Given the description of an element on the screen output the (x, y) to click on. 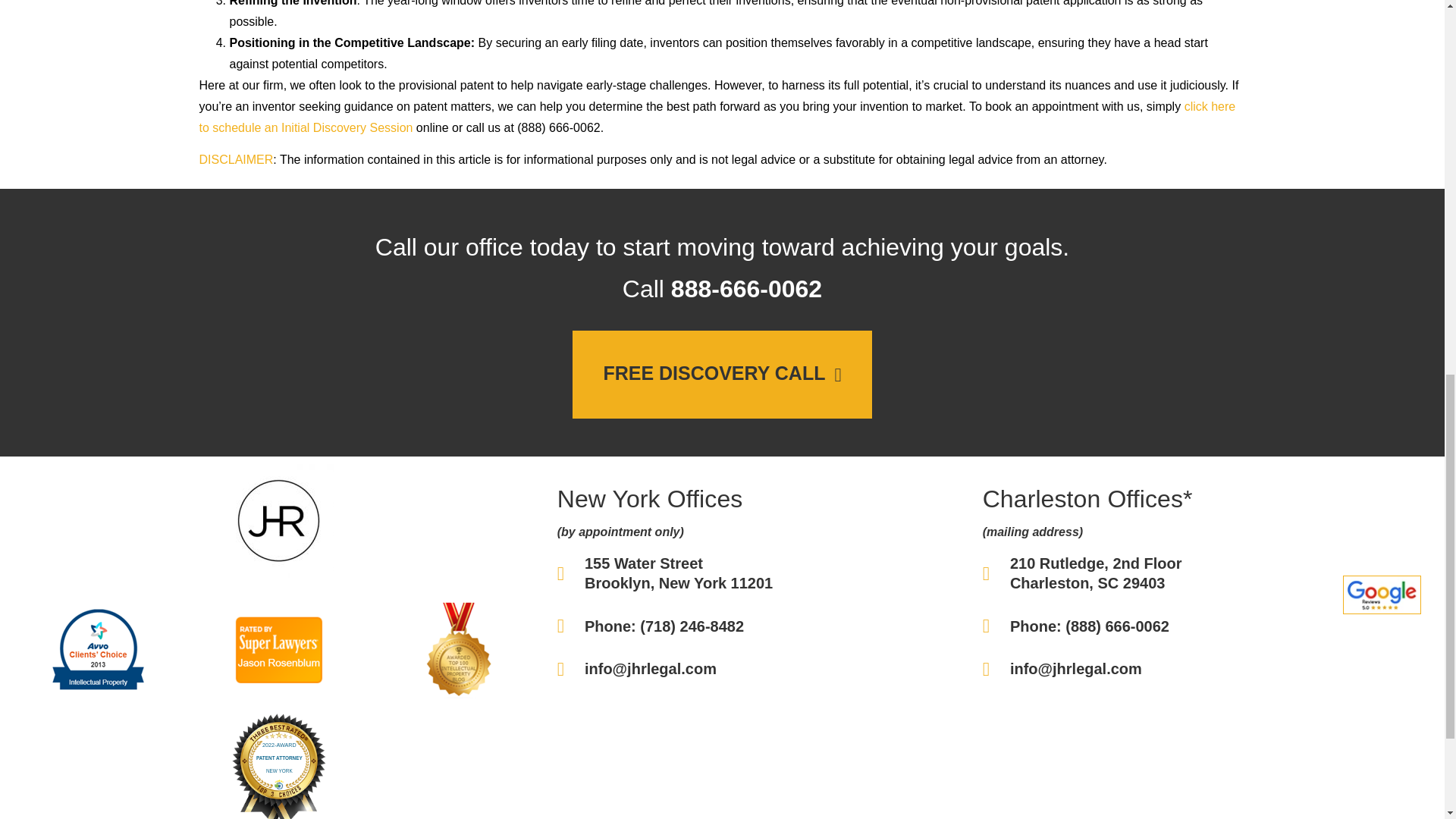
jhr white logo (278, 521)
click here to schedule an Initial Discovery Session (716, 116)
DISCLAIMER (235, 159)
